Given the description of an element on the screen output the (x, y) to click on. 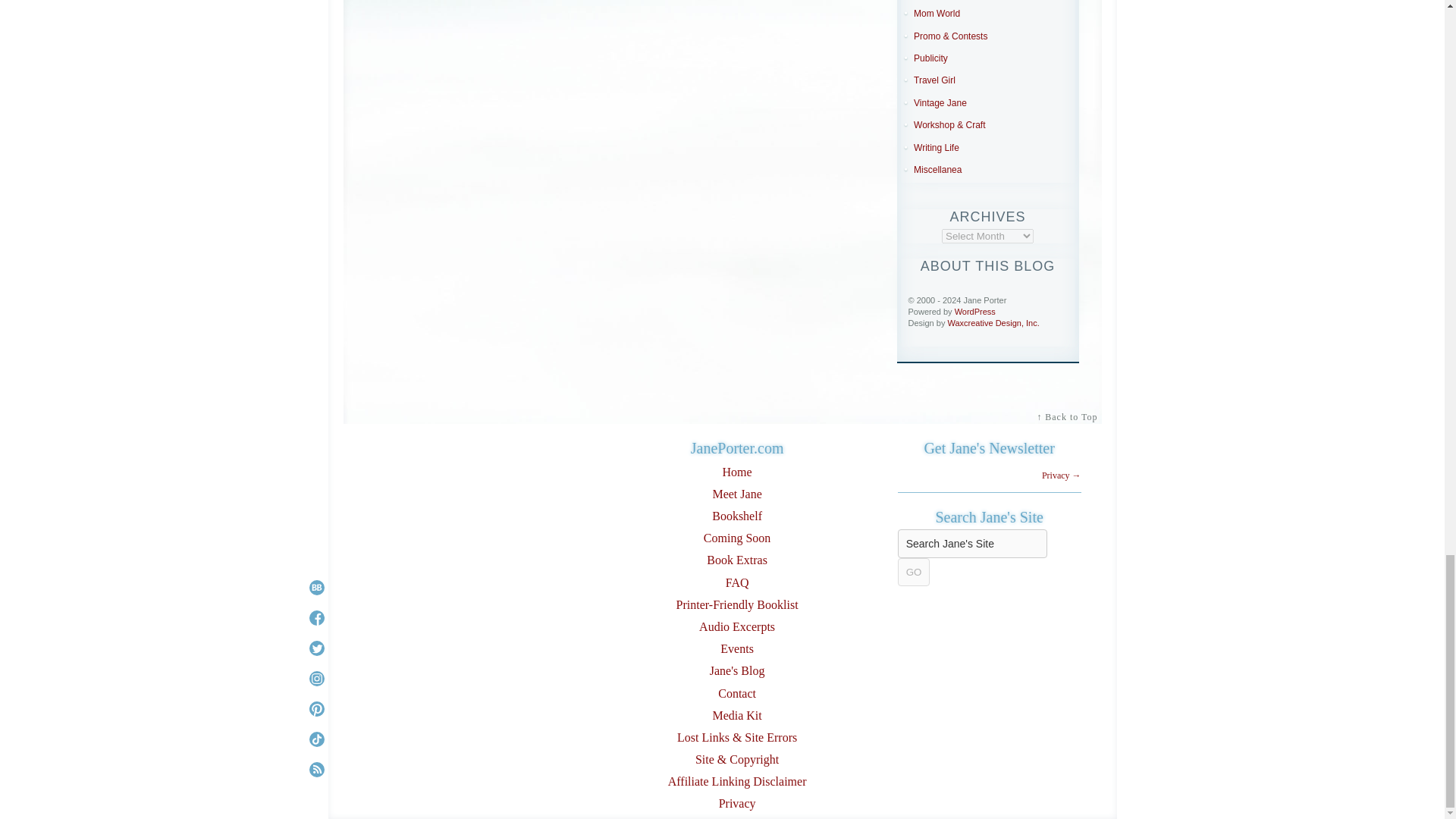
Search Jane's Site (972, 543)
Search for: (972, 543)
GO (914, 571)
Search Jane's Site (972, 543)
